Given the description of an element on the screen output the (x, y) to click on. 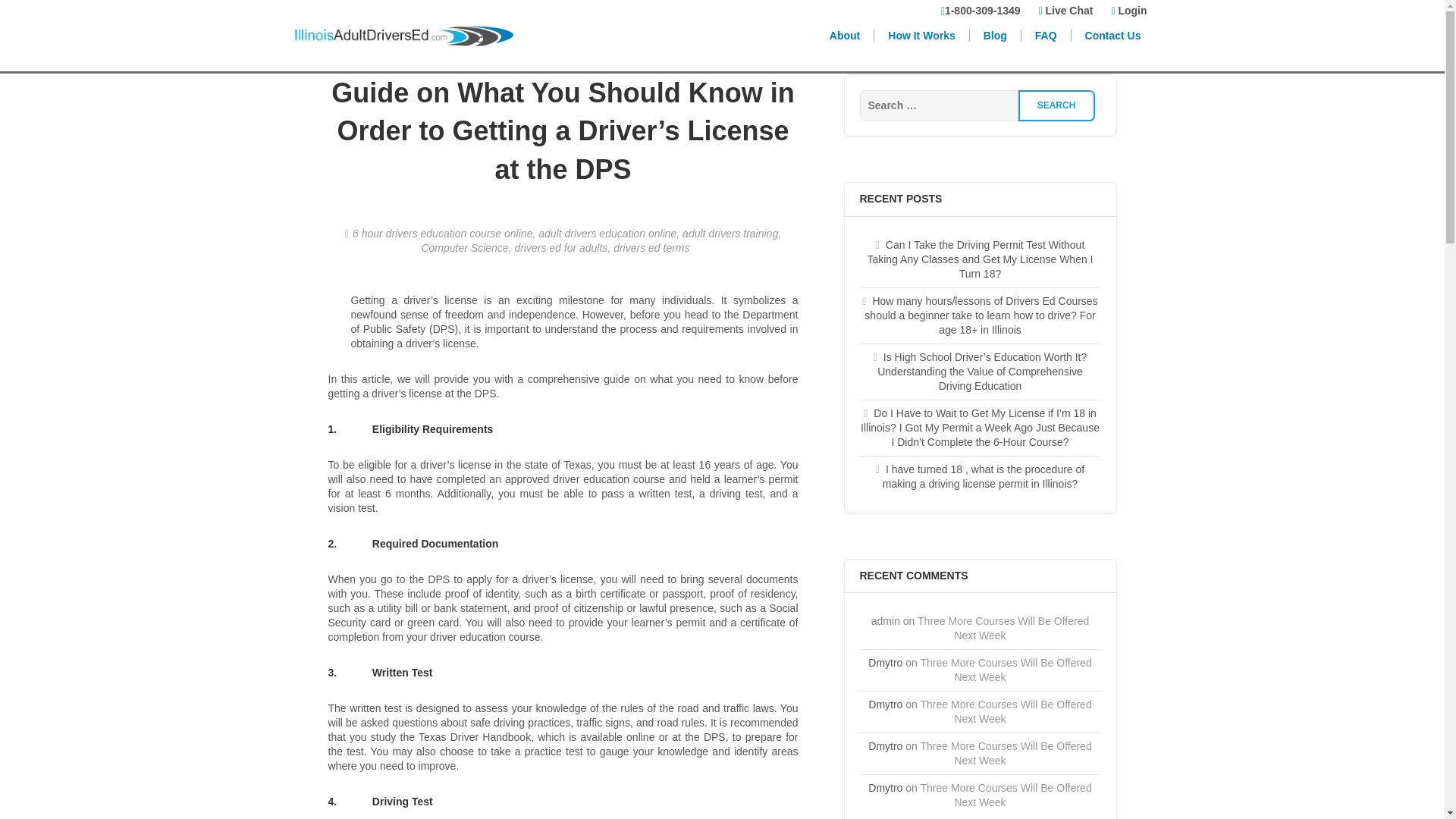
How It Works (922, 35)
About (845, 35)
Dmytro (884, 704)
Login (1128, 12)
Three More Courses Will Be Offered Next Week (1006, 711)
1-800-309-1349 (980, 12)
Dmytro (884, 787)
Contact Us (1112, 35)
Dmytro (884, 746)
